Given the description of an element on the screen output the (x, y) to click on. 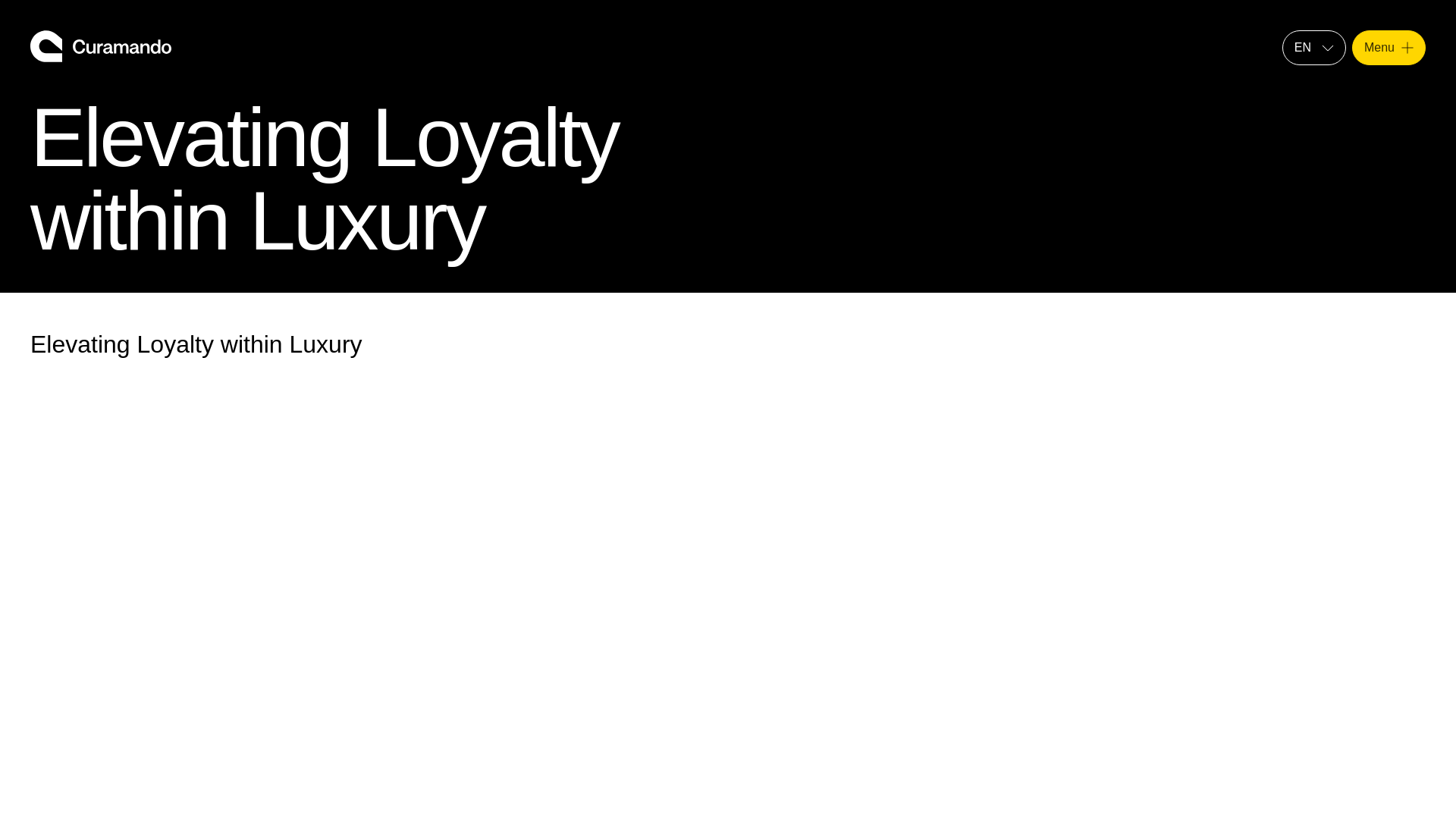
Menu (1388, 47)
EN (1313, 47)
